Given the description of an element on the screen output the (x, y) to click on. 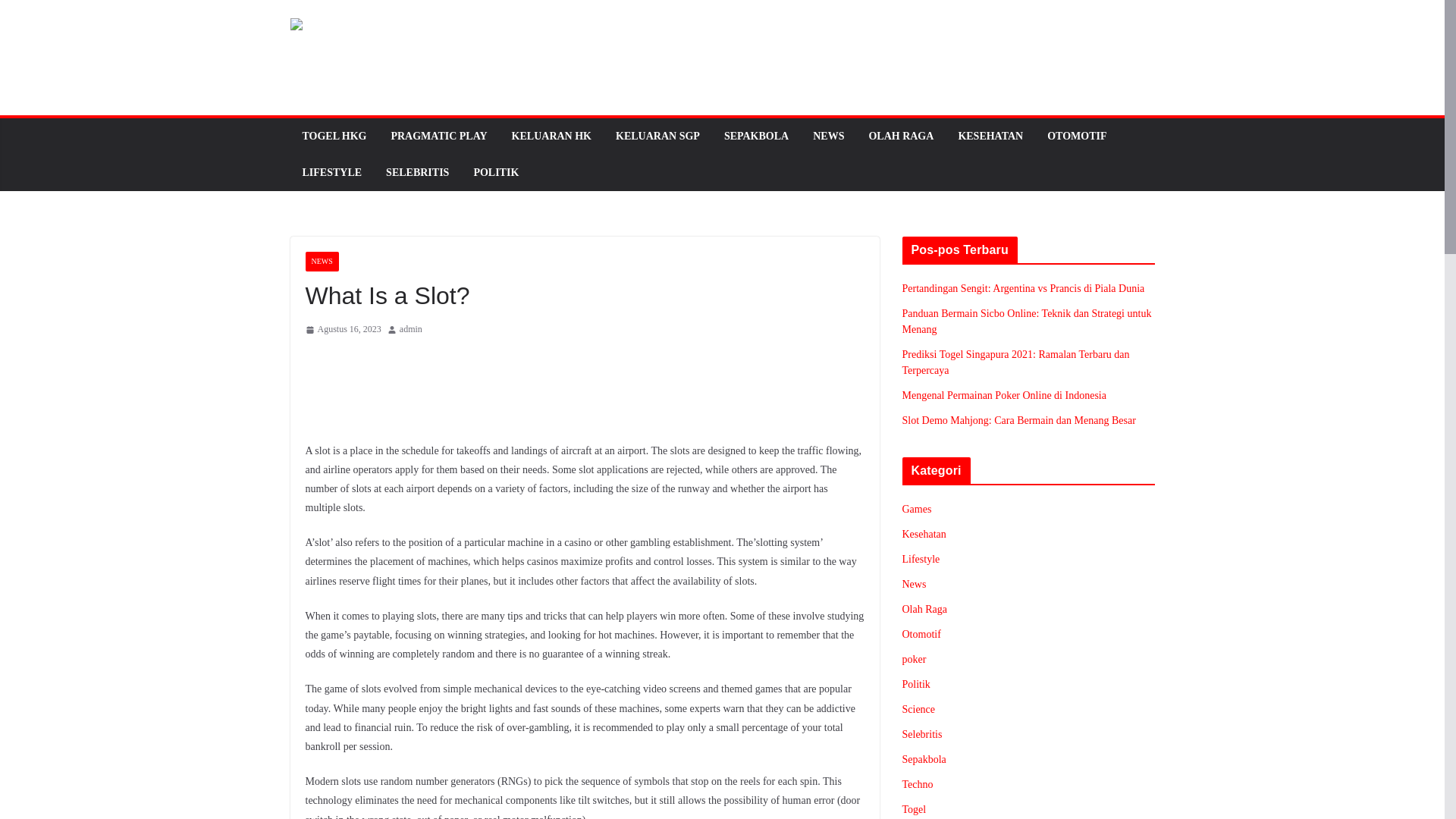
Olah Raga (924, 609)
3:44 am (342, 329)
Togel (914, 808)
Sepakbola (924, 758)
Politik (916, 684)
SEPAKBOLA (756, 136)
Kesehatan (924, 533)
Techno (917, 784)
Mengenal Permainan Poker Online di Indonesia (1004, 395)
admin (410, 329)
